Given the description of an element on the screen output the (x, y) to click on. 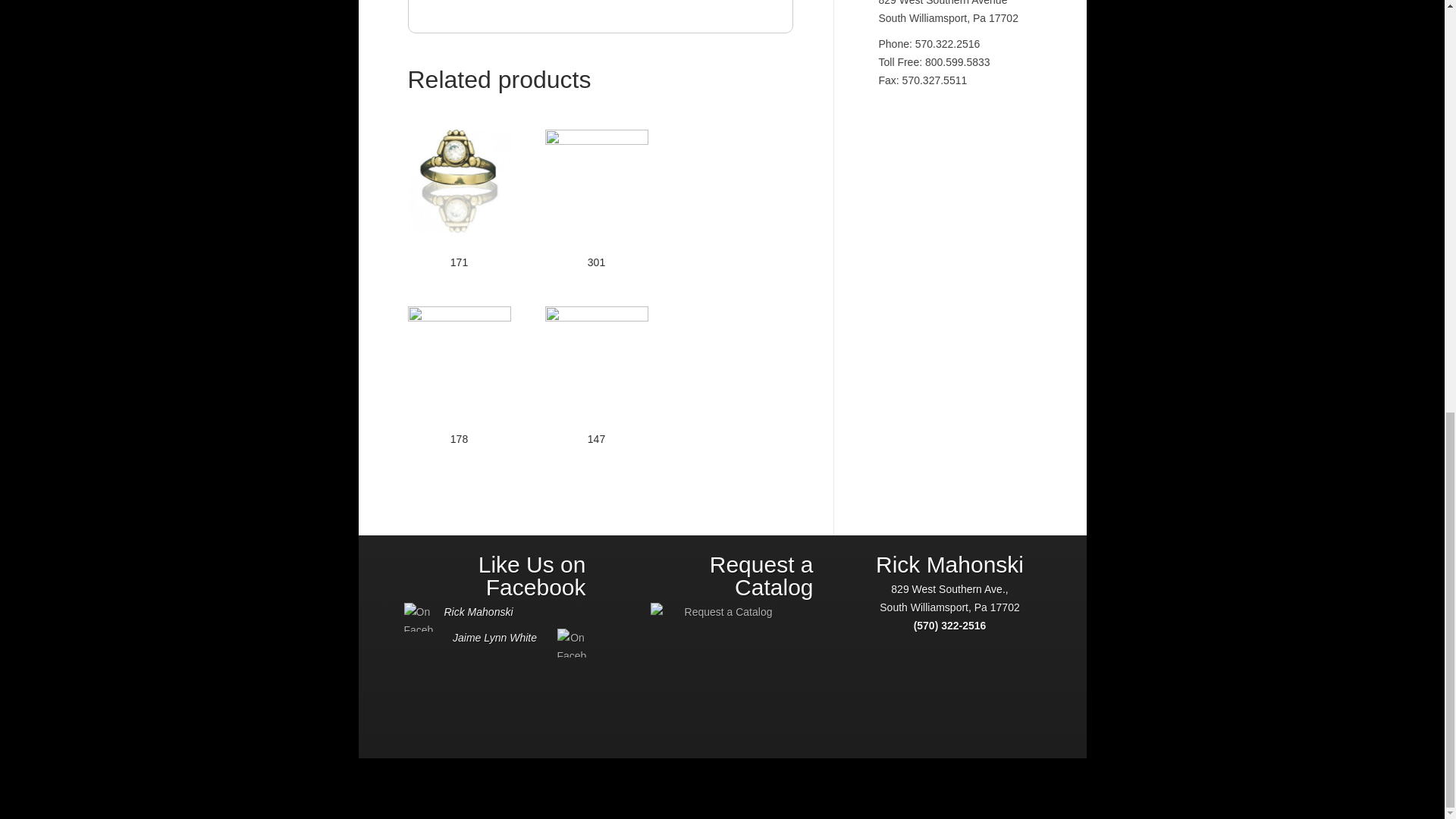
Request a Catalog (761, 575)
Request a Catalogs (721, 658)
Request a Catalog (721, 658)
Like Us on Facebook (532, 575)
